Given the description of an element on the screen output the (x, y) to click on. 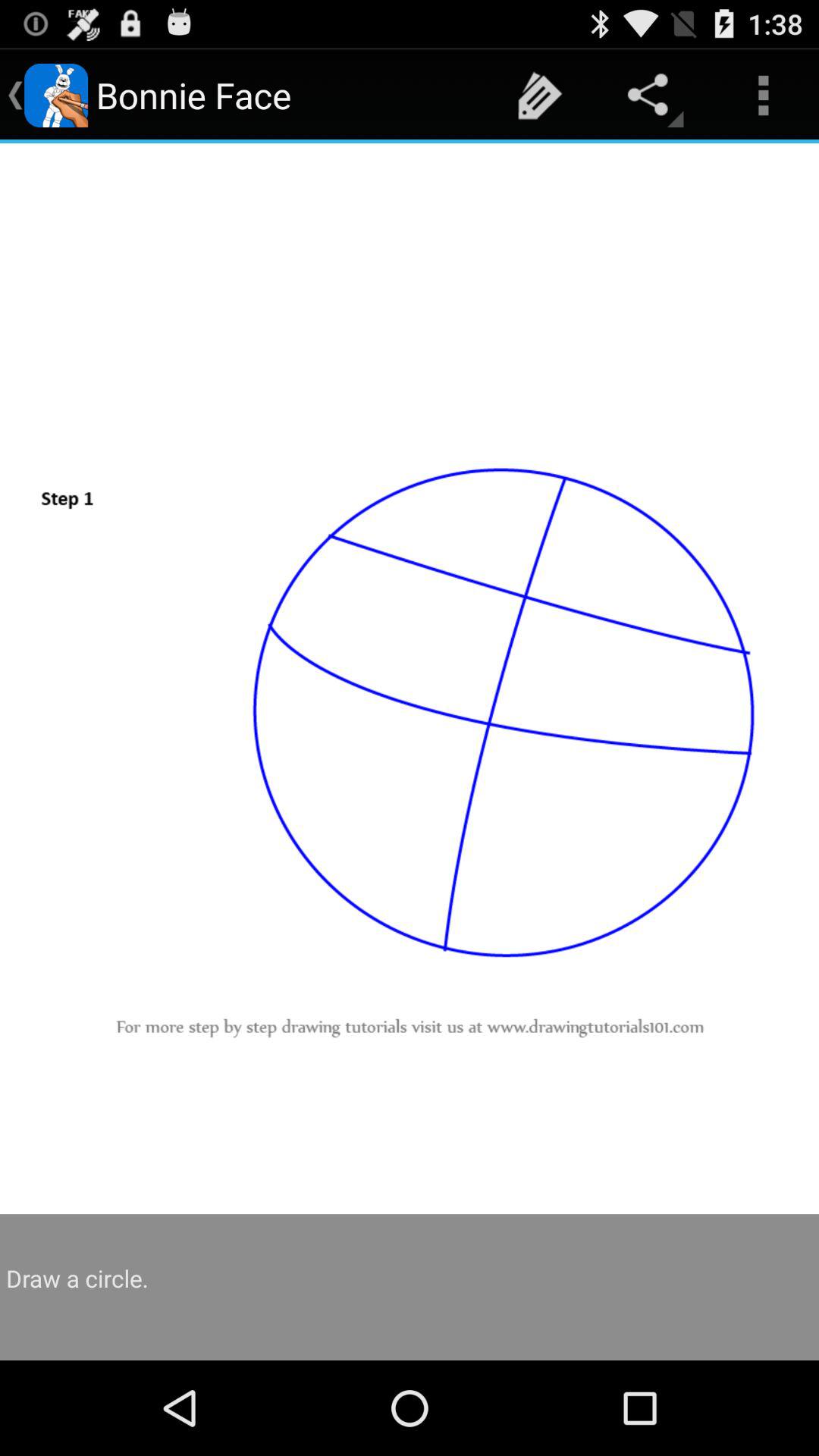
turn on app next to bonnie face item (540, 95)
